Given the description of an element on the screen output the (x, y) to click on. 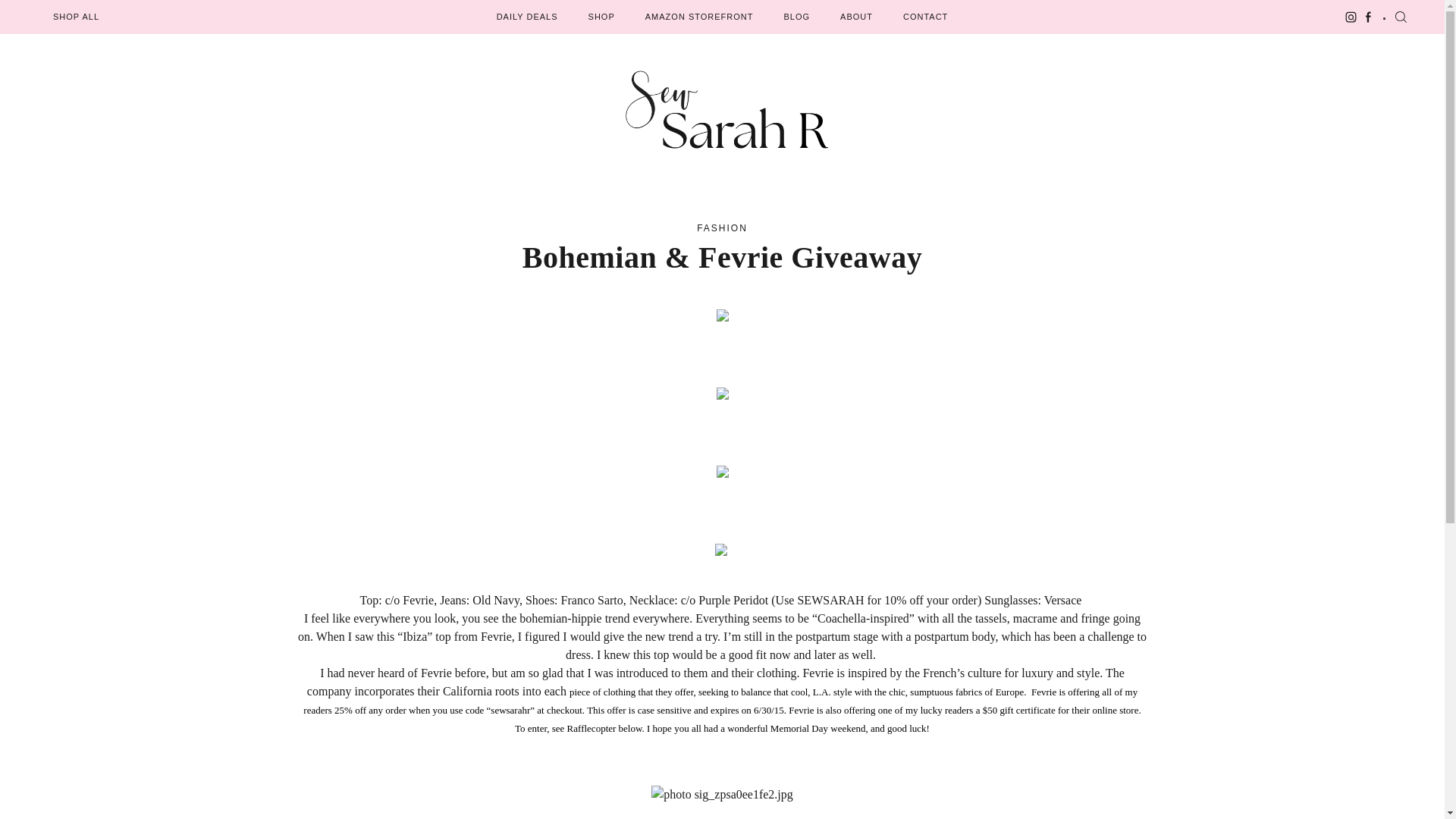
BLOG (796, 16)
FASHION (722, 228)
DAILY DEALS (526, 16)
SHOP ALL (75, 16)
Purple Peridot (734, 599)
Old Navy (495, 599)
ABOUT (856, 16)
Franco Sarto (591, 599)
SHOP (601, 16)
Versace  (1063, 599)
Fevrie (435, 672)
CONTACT (924, 16)
AMAZON STOREFRONT (699, 16)
Fevrie, (419, 599)
